Given the description of an element on the screen output the (x, y) to click on. 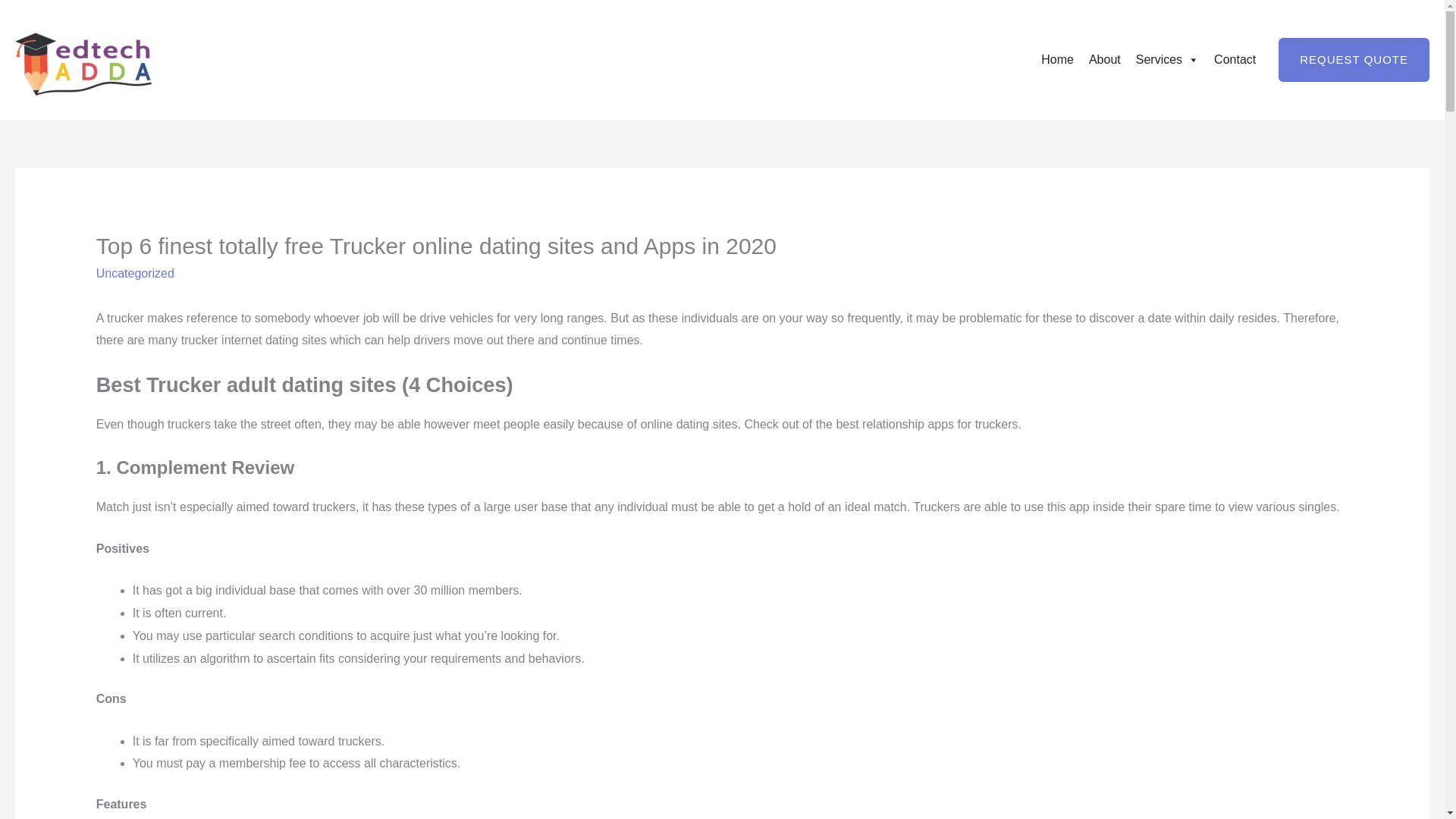
About (1104, 60)
Services (1167, 60)
Home (1057, 60)
Contact (1235, 60)
REQUEST QUOTE (1353, 59)
